Given the description of an element on the screen output the (x, y) to click on. 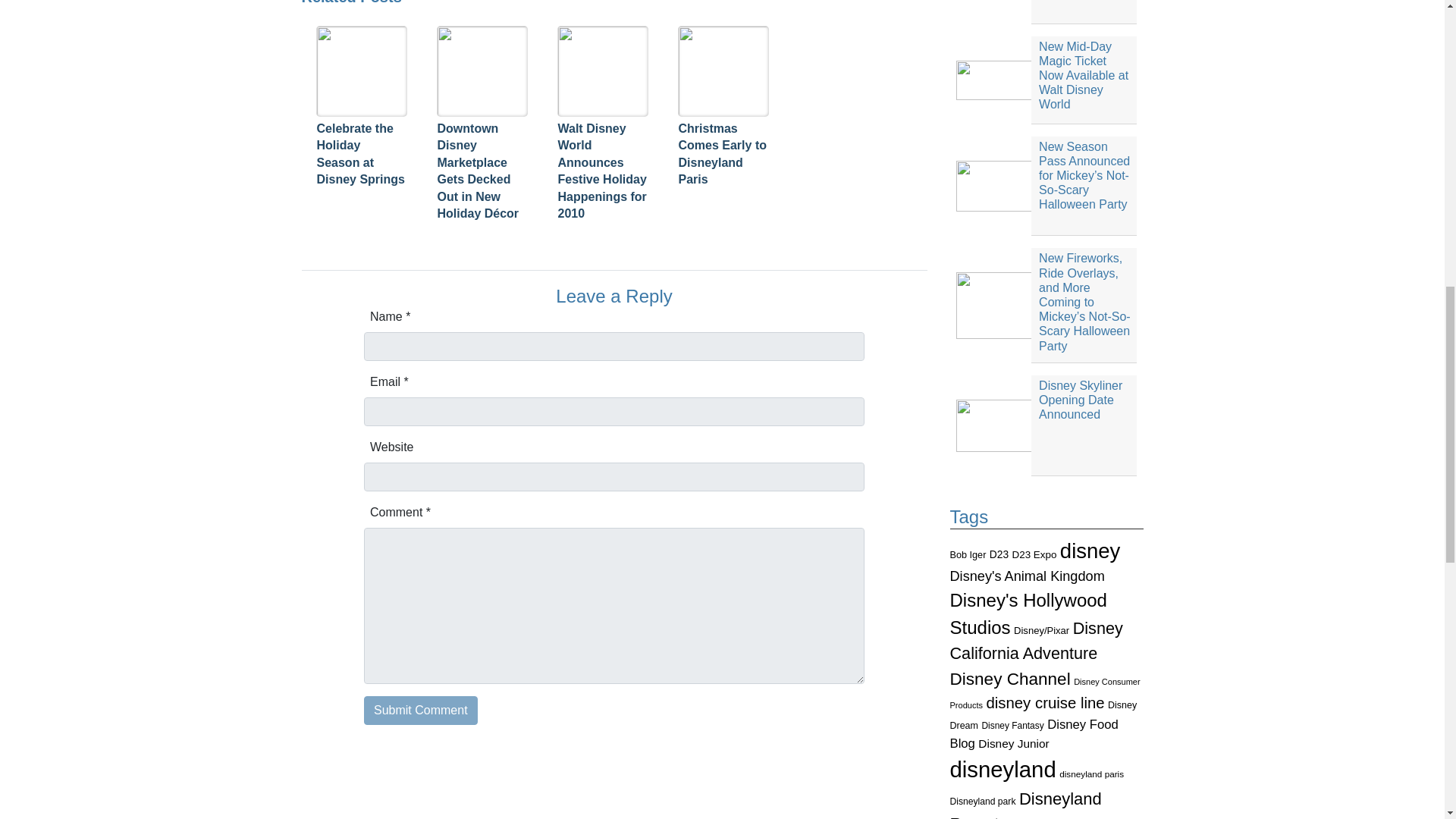
Disney's Hollywood Studios (1027, 613)
Disney Channel (1009, 678)
New Mid-Day Magic Ticket Now Available at Walt Disney World (1046, 80)
Disney California Adventure (1035, 640)
Bob Iger (967, 554)
Disney Skyliner Opening Date Announced (1046, 425)
Disney Skyliner Opening Date Announced (1046, 425)
New Mid-Day Magic Ticket Now Available at Walt Disney World (1046, 80)
